Given the description of an element on the screen output the (x, y) to click on. 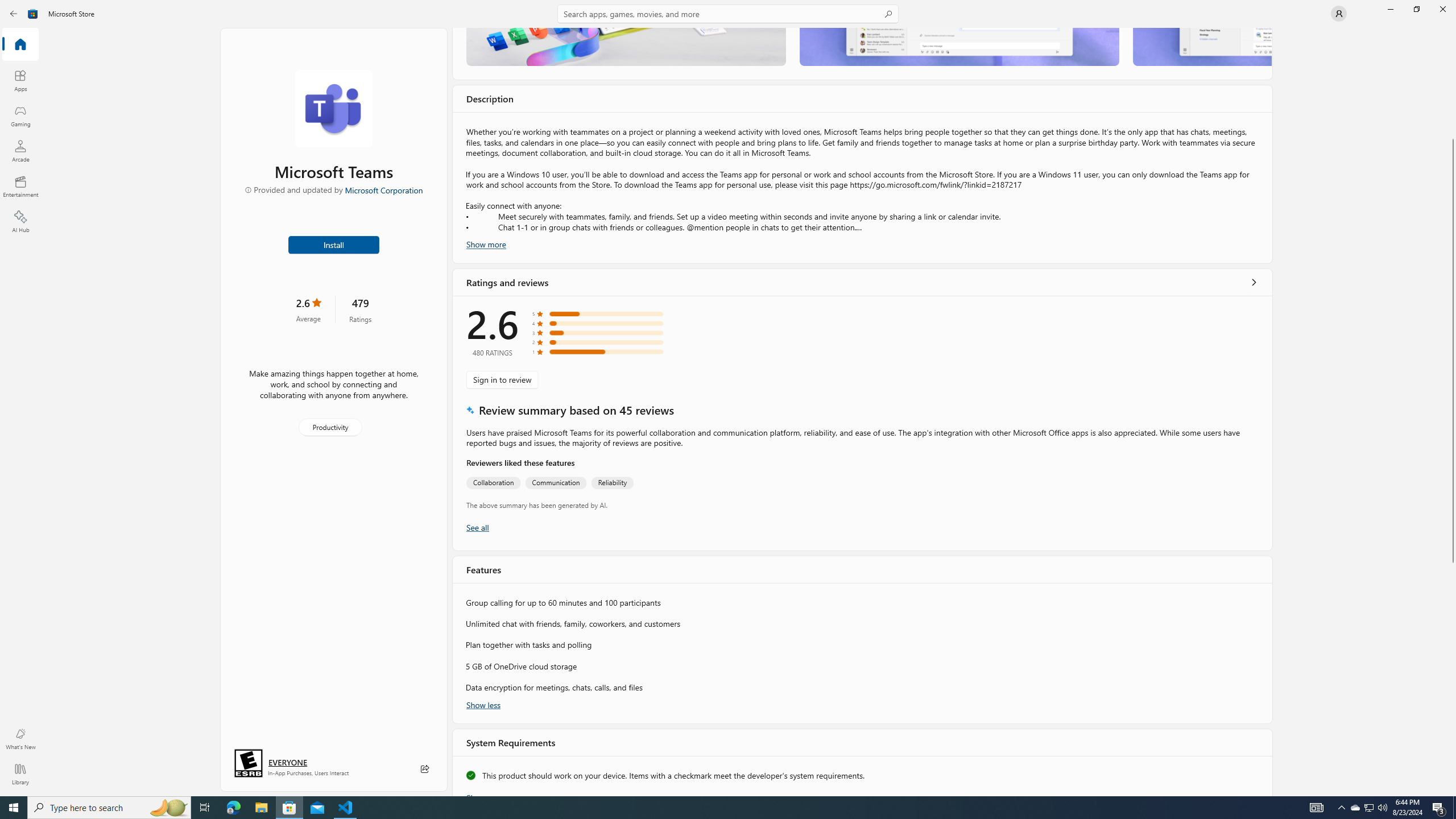
Vertical (1452, 412)
Screenshot 2 (959, 46)
Screenshot 3 (1201, 46)
Apps (20, 80)
What's New (20, 738)
Minimize Microsoft Store (1390, 9)
Gaming (20, 115)
AI Hub (20, 221)
Screenshot 1 (625, 46)
Show more (485, 793)
Show all ratings and reviews (477, 527)
Vertical Large Increase (1452, 675)
Vertical Small Increase (1452, 792)
